Given the description of an element on the screen output the (x, y) to click on. 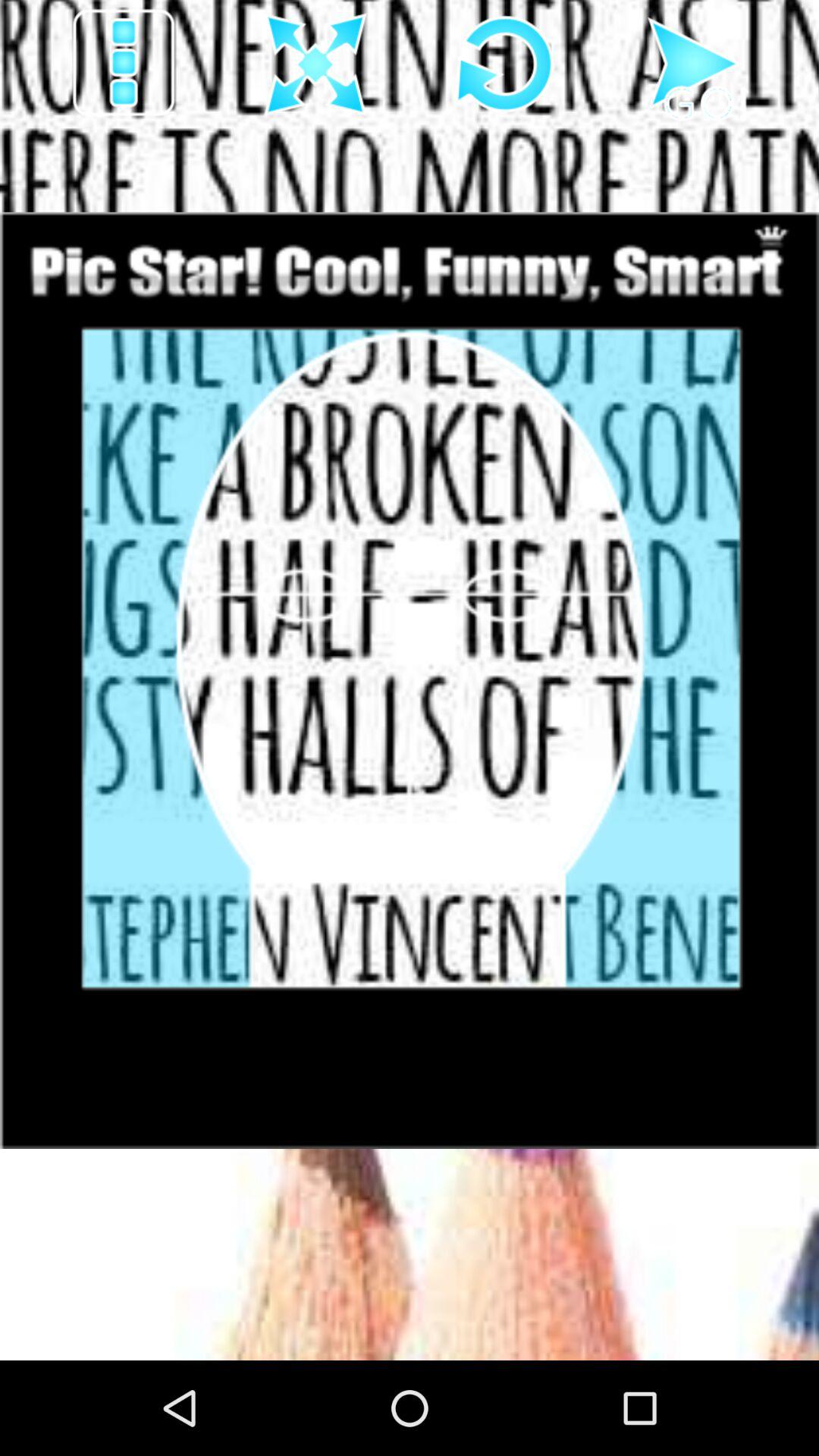
full screen (315, 64)
